Given the description of an element on the screen output the (x, y) to click on. 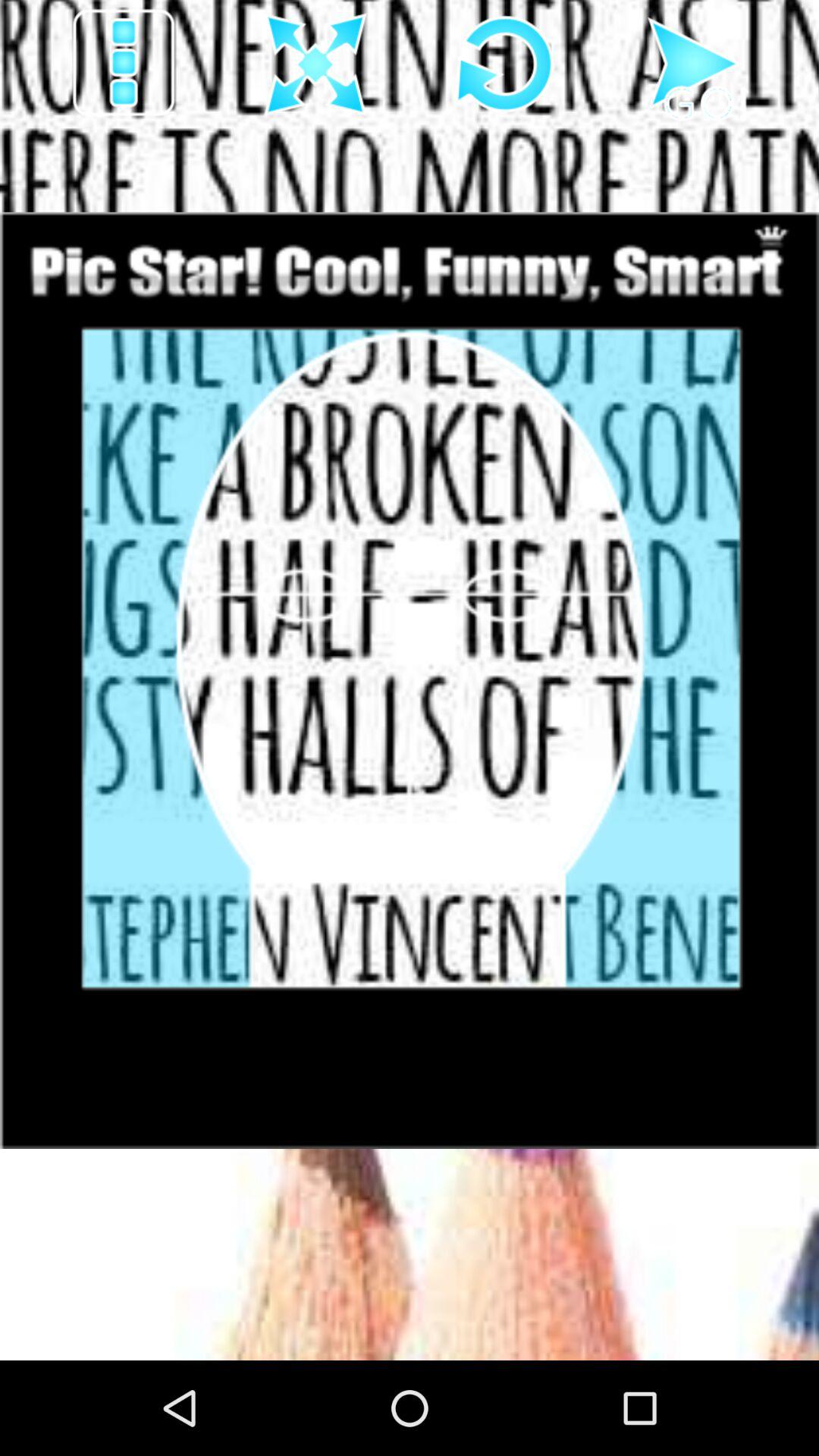
full screen (315, 64)
